Given the description of an element on the screen output the (x, y) to click on. 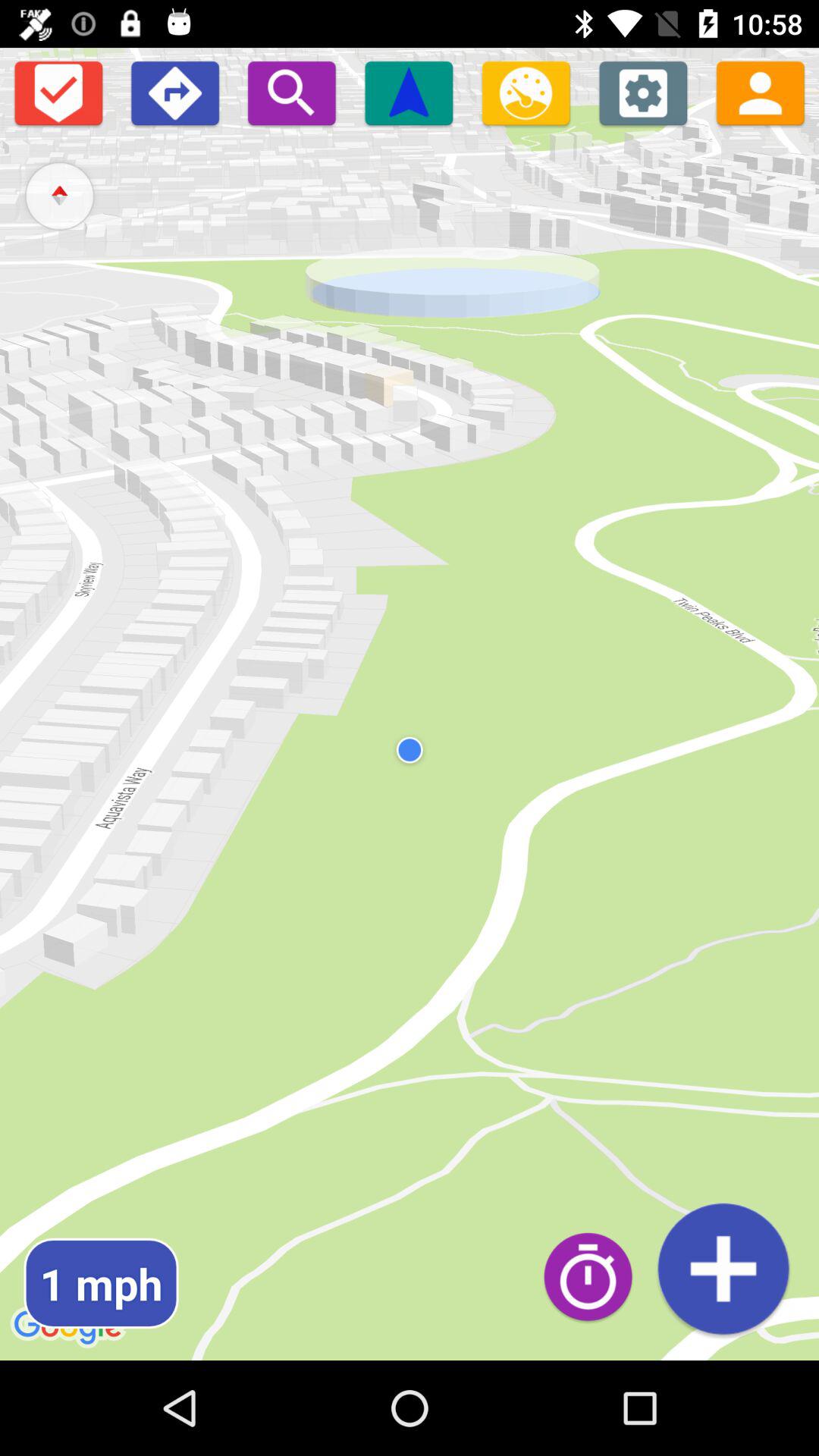
settings (642, 92)
